Given the description of an element on the screen output the (x, y) to click on. 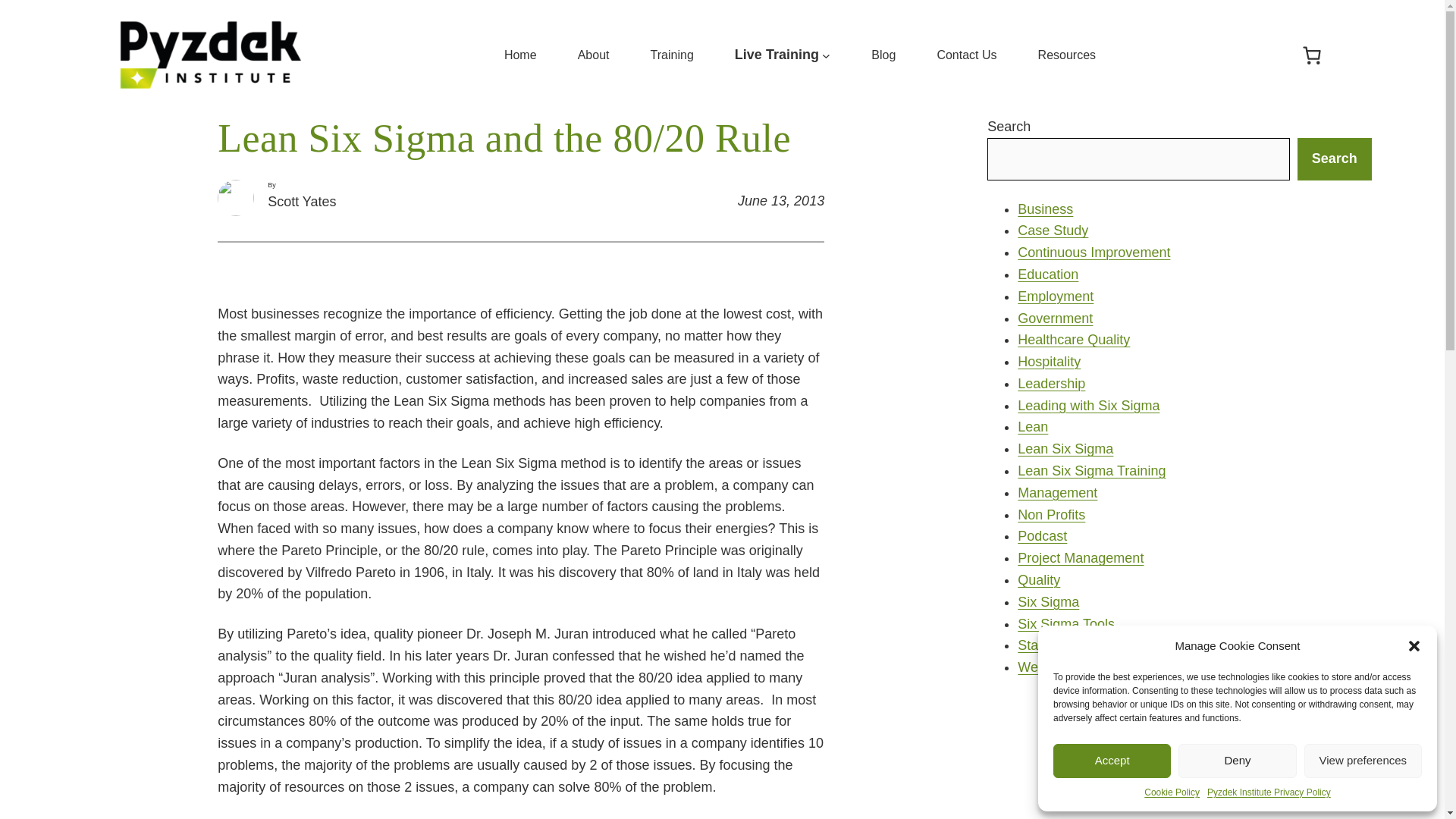
Pyzdek Institute Privacy Policy (1268, 792)
Leading with Six Sigma (1087, 405)
About (594, 55)
Contact Us (965, 55)
Hospitality (1048, 361)
Training (672, 55)
Deny (1236, 760)
Accept (1111, 760)
Government (1055, 318)
Healthcare Quality (1073, 339)
Cookie Policy (1171, 792)
Continuous Improvement (1093, 252)
Live Training (776, 55)
Employment (1055, 296)
Resources (1067, 55)
